Given the description of an element on the screen output the (x, y) to click on. 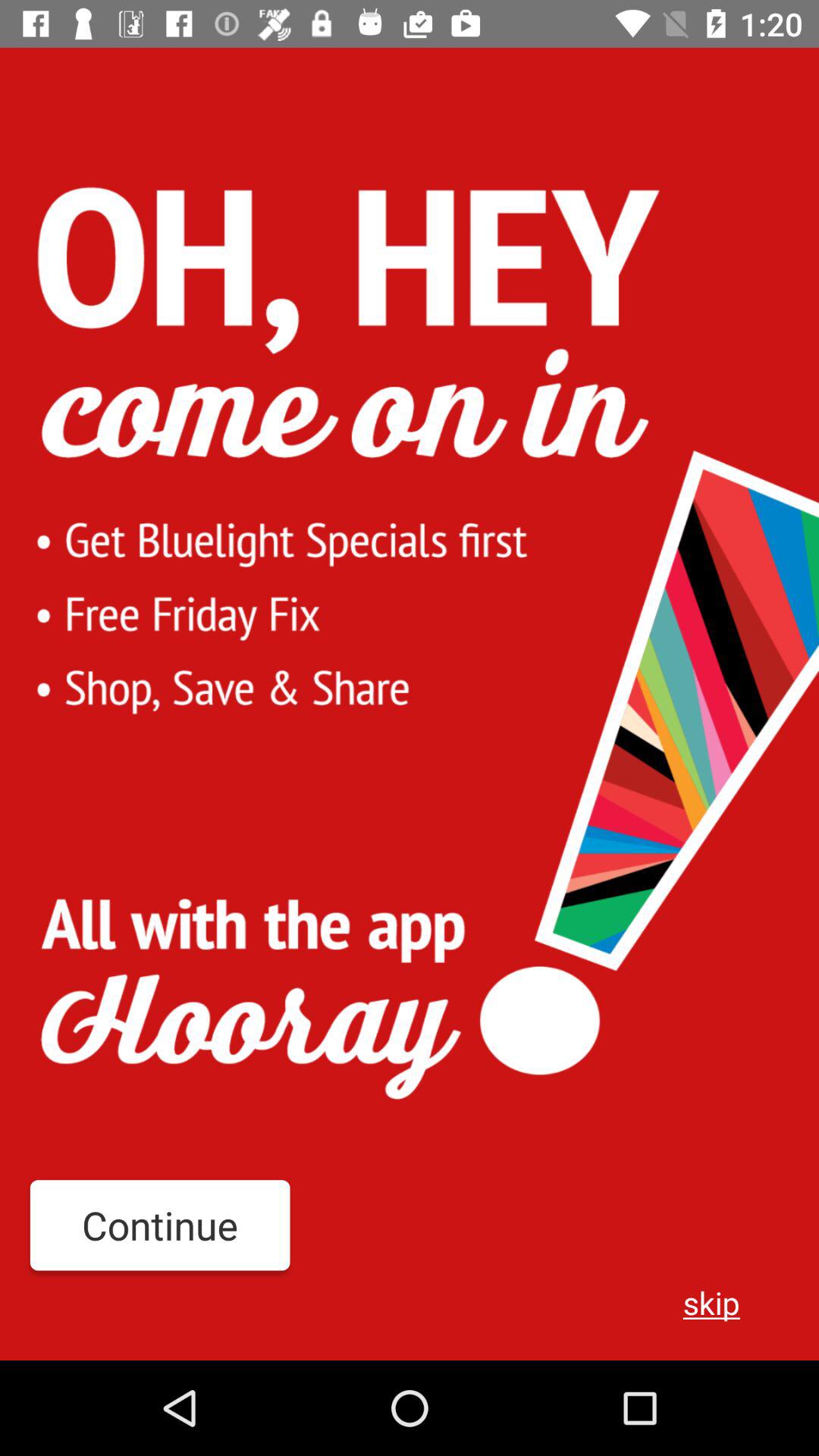
open item next to the skip icon (160, 1225)
